Given the description of an element on the screen output the (x, y) to click on. 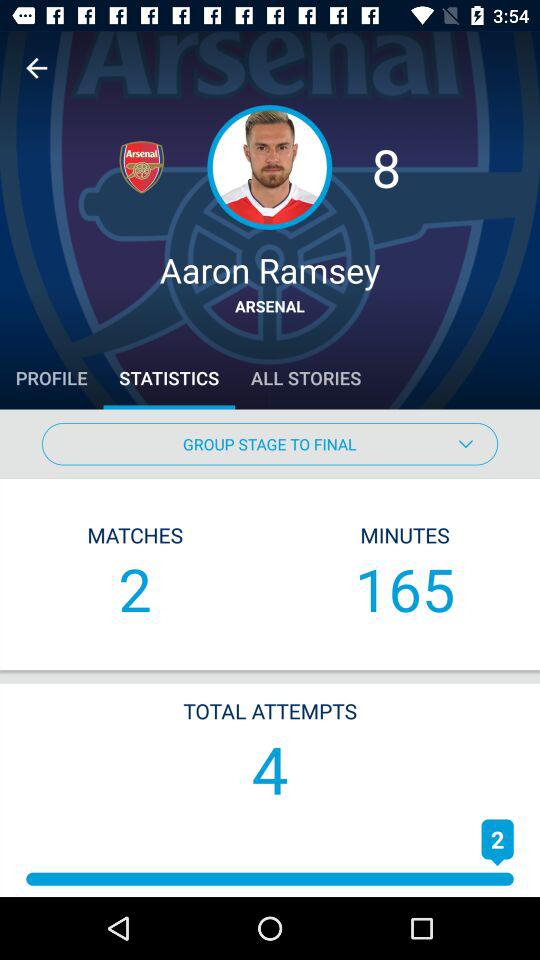
go back (36, 68)
